Given the description of an element on the screen output the (x, y) to click on. 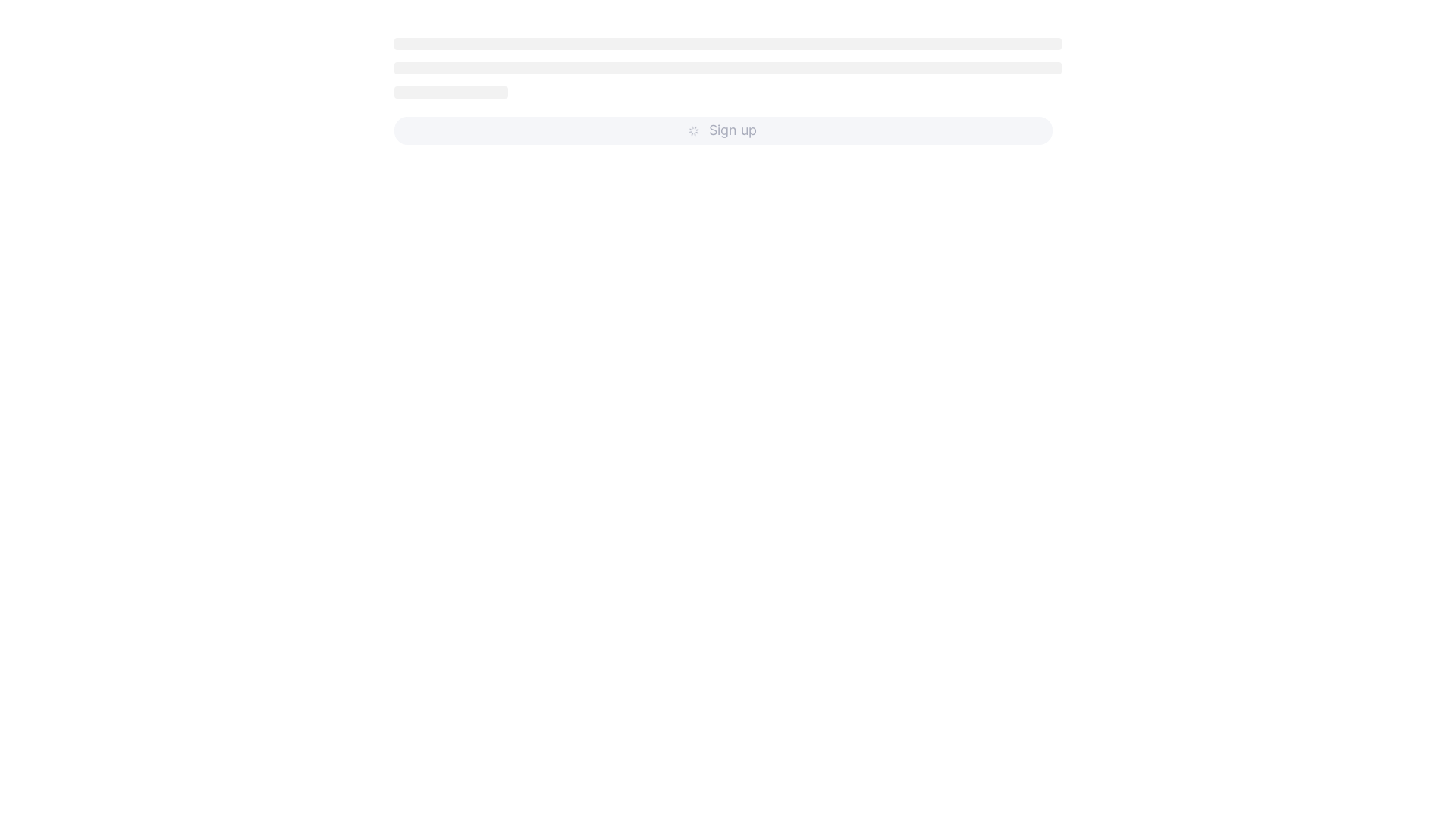
Sign up Element type: text (723, 130)
